Given the description of an element on the screen output the (x, y) to click on. 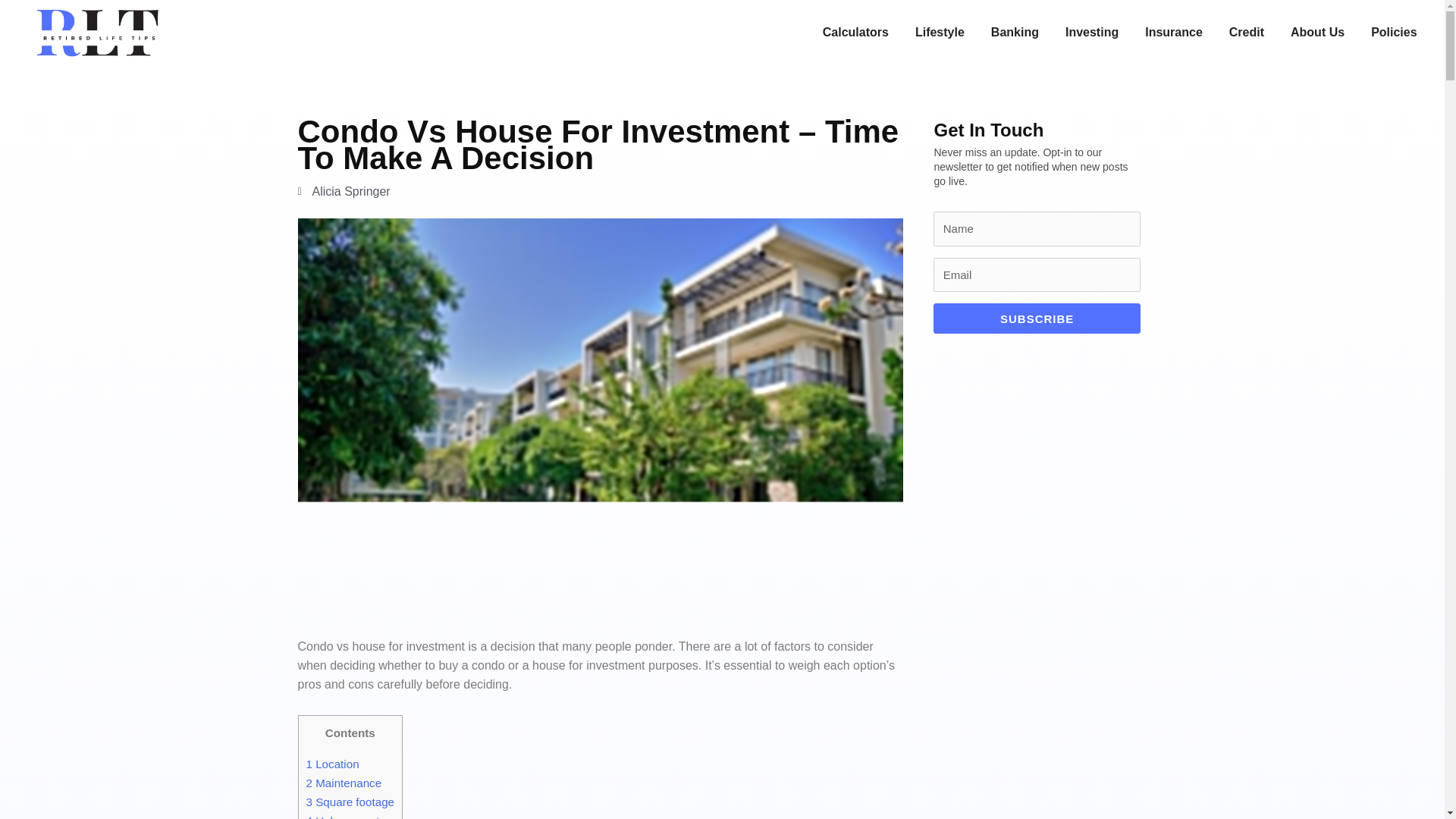
Insurance (1173, 32)
Credit (1245, 32)
3 Square footage (349, 801)
Calculators (855, 32)
2 Maintenance (343, 782)
About Us (1316, 32)
Investing (1091, 32)
Banking (1015, 32)
Policies (1393, 32)
Lifestyle (939, 32)
